Given the description of an element on the screen output the (x, y) to click on. 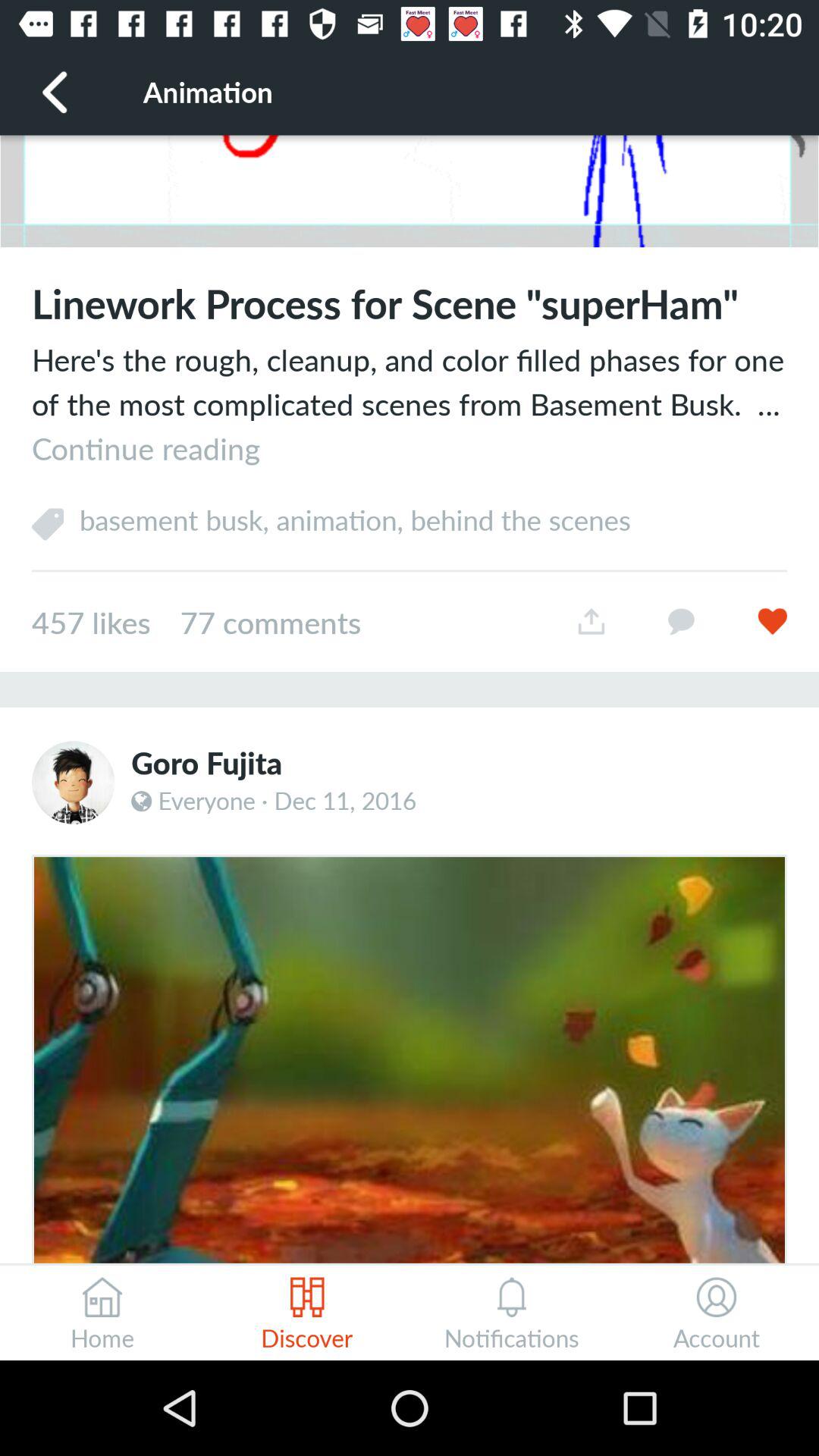
turn off the icon next to the animation (55, 91)
